Given the description of an element on the screen output the (x, y) to click on. 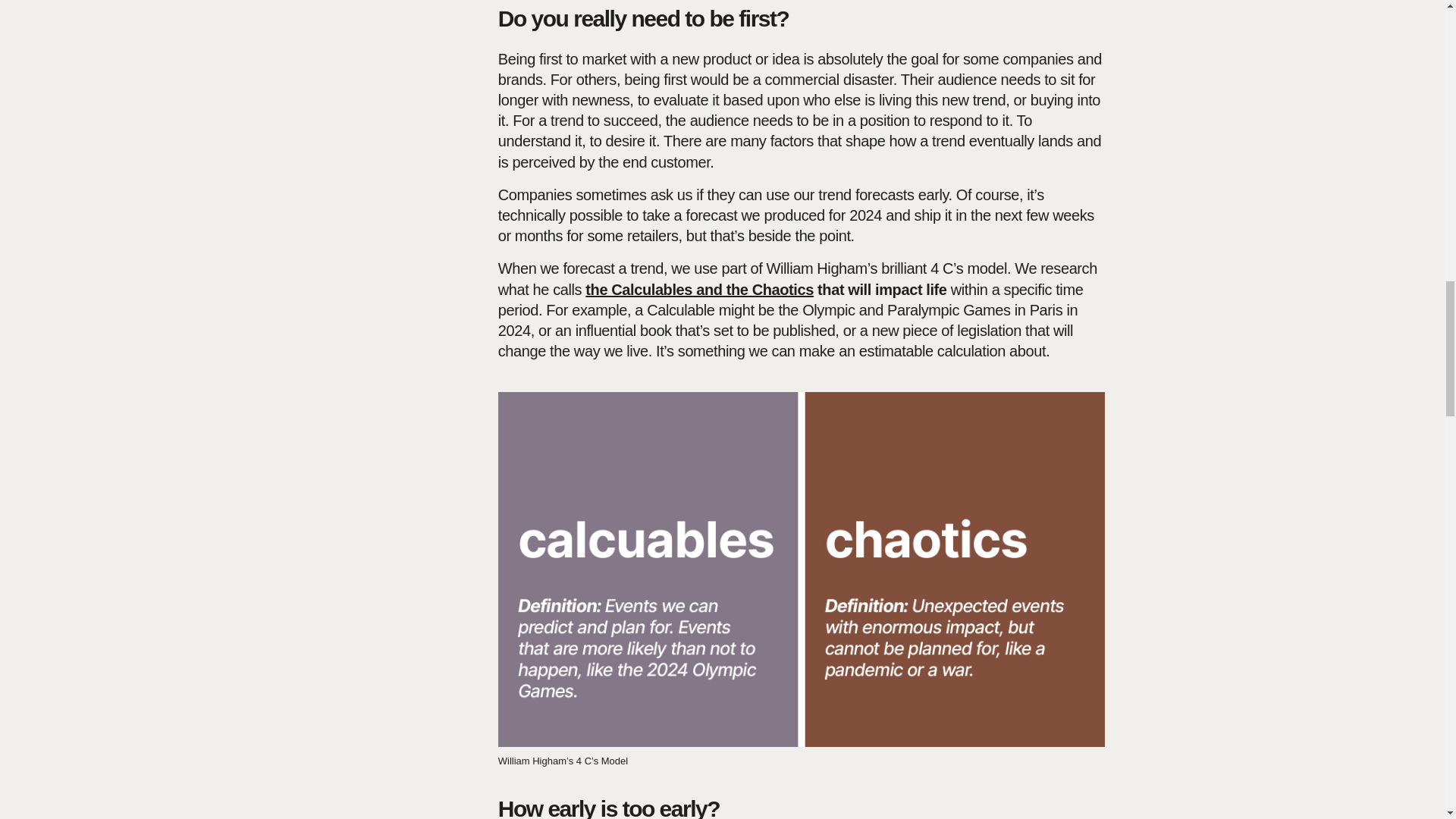
the Calculables and the Chaotics (699, 289)
